Given the description of an element on the screen output the (x, y) to click on. 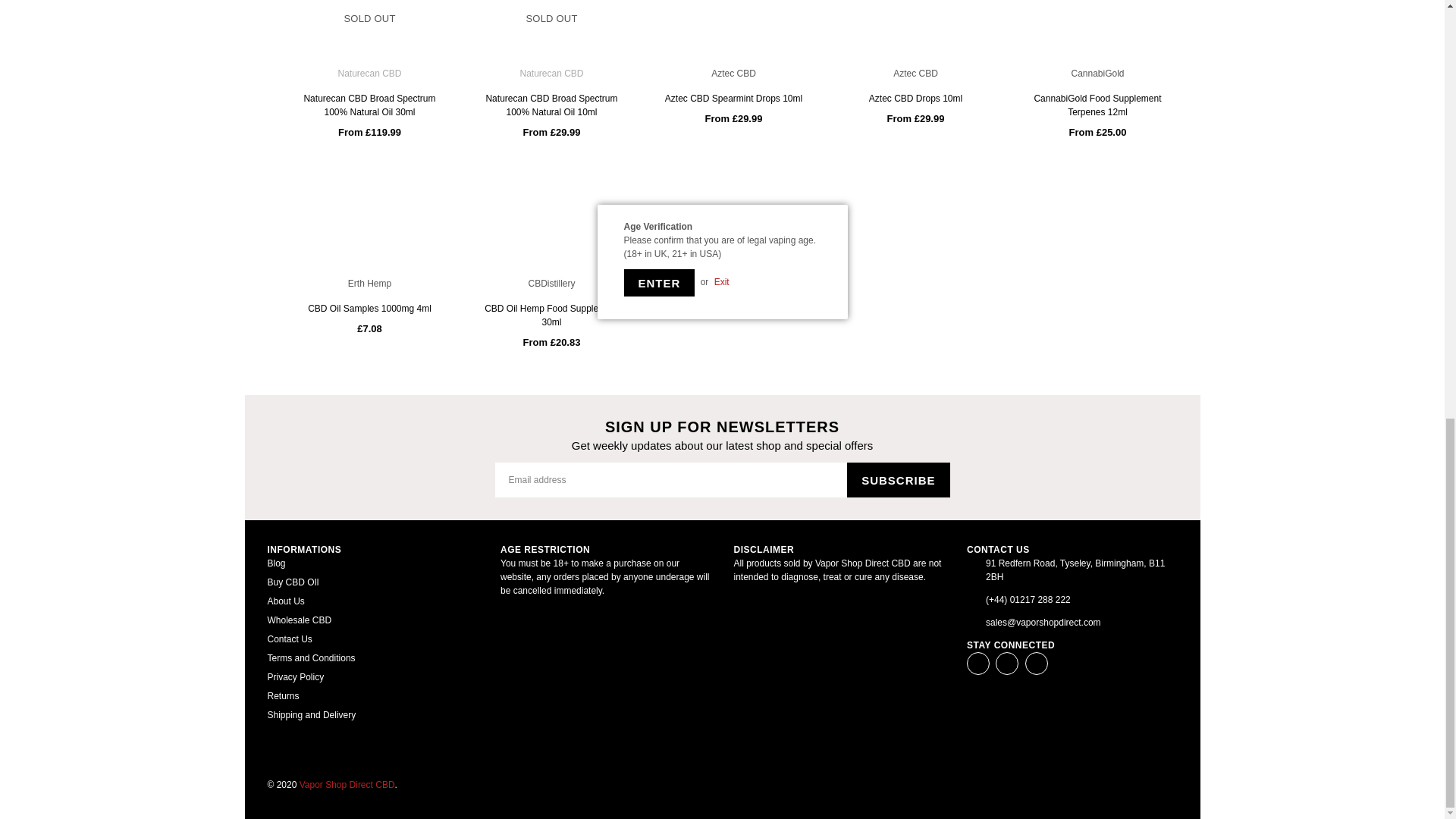
Vapor Shop Direct CBD on Instagram (1036, 662)
Vapor Shop Direct CBD on Twitter (1006, 662)
Vapor Shop Direct CBD on Facebook (978, 662)
